Given the description of an element on the screen output the (x, y) to click on. 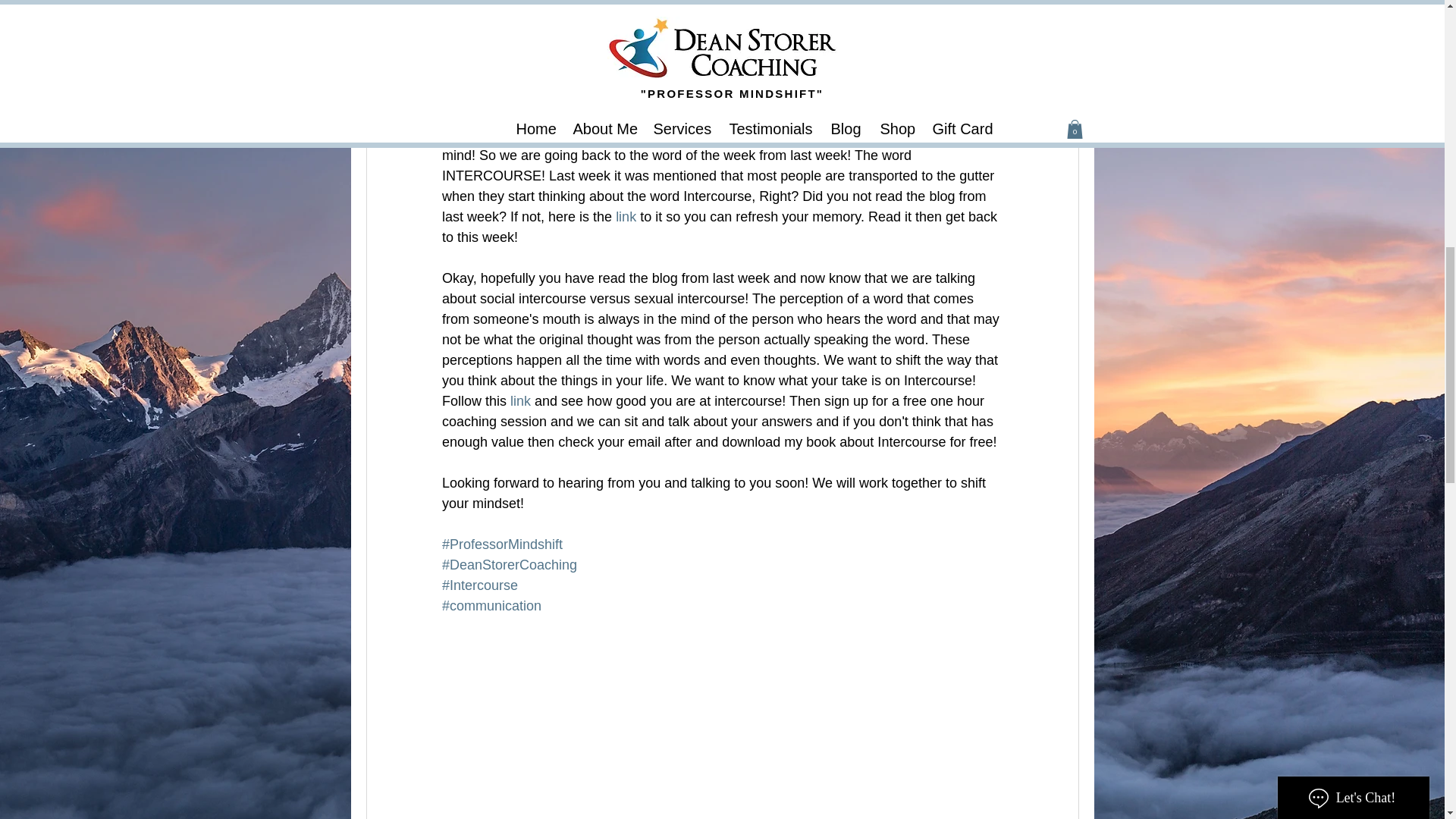
link (625, 216)
link (521, 400)
